Given the description of an element on the screen output the (x, y) to click on. 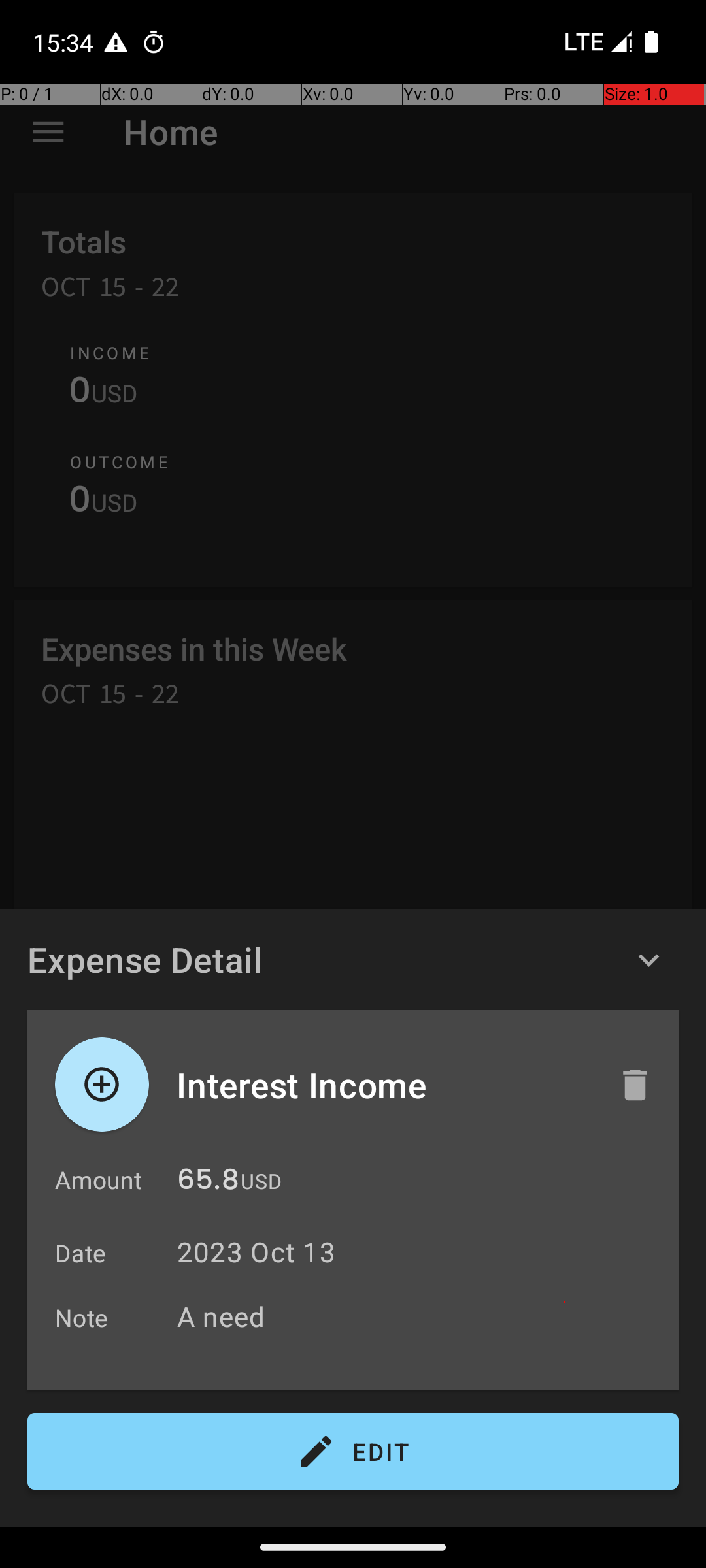
Interest Income Element type: android.widget.TextView (383, 1084)
65.8 Element type: android.widget.TextView (207, 1182)
A need Element type: android.widget.TextView (420, 1315)
